Given the description of an element on the screen output the (x, y) to click on. 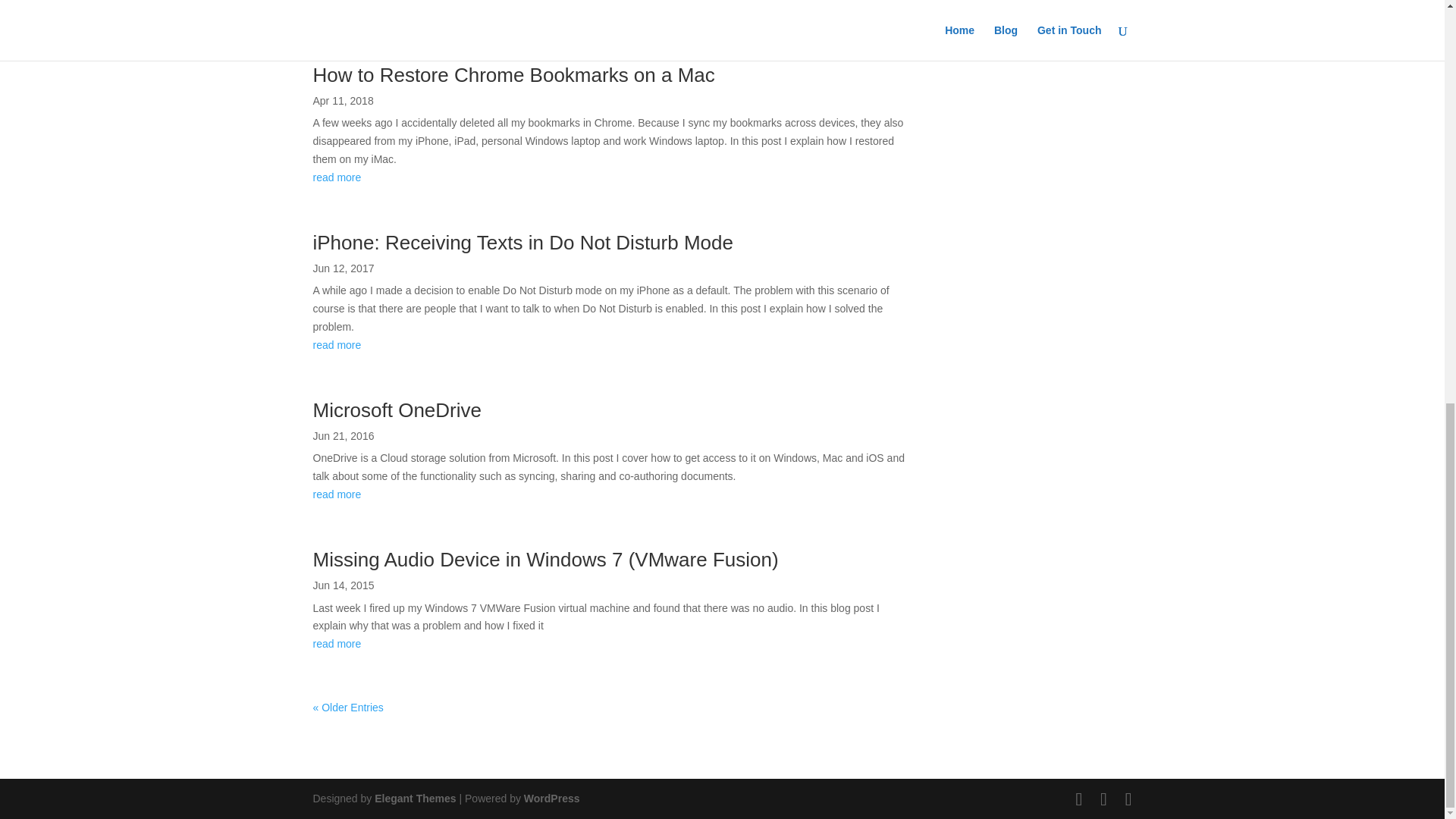
read more (614, 10)
Elegant Themes (414, 798)
Microsoft OneDrive (397, 409)
Premium WordPress Themes (414, 798)
read more (614, 644)
read more (614, 345)
How to Restore Chrome Bookmarks on a Mac (513, 74)
read more (614, 177)
WordPress (551, 798)
iPhone: Receiving Texts in Do Not Disturb Mode (522, 241)
